Given the description of an element on the screen output the (x, y) to click on. 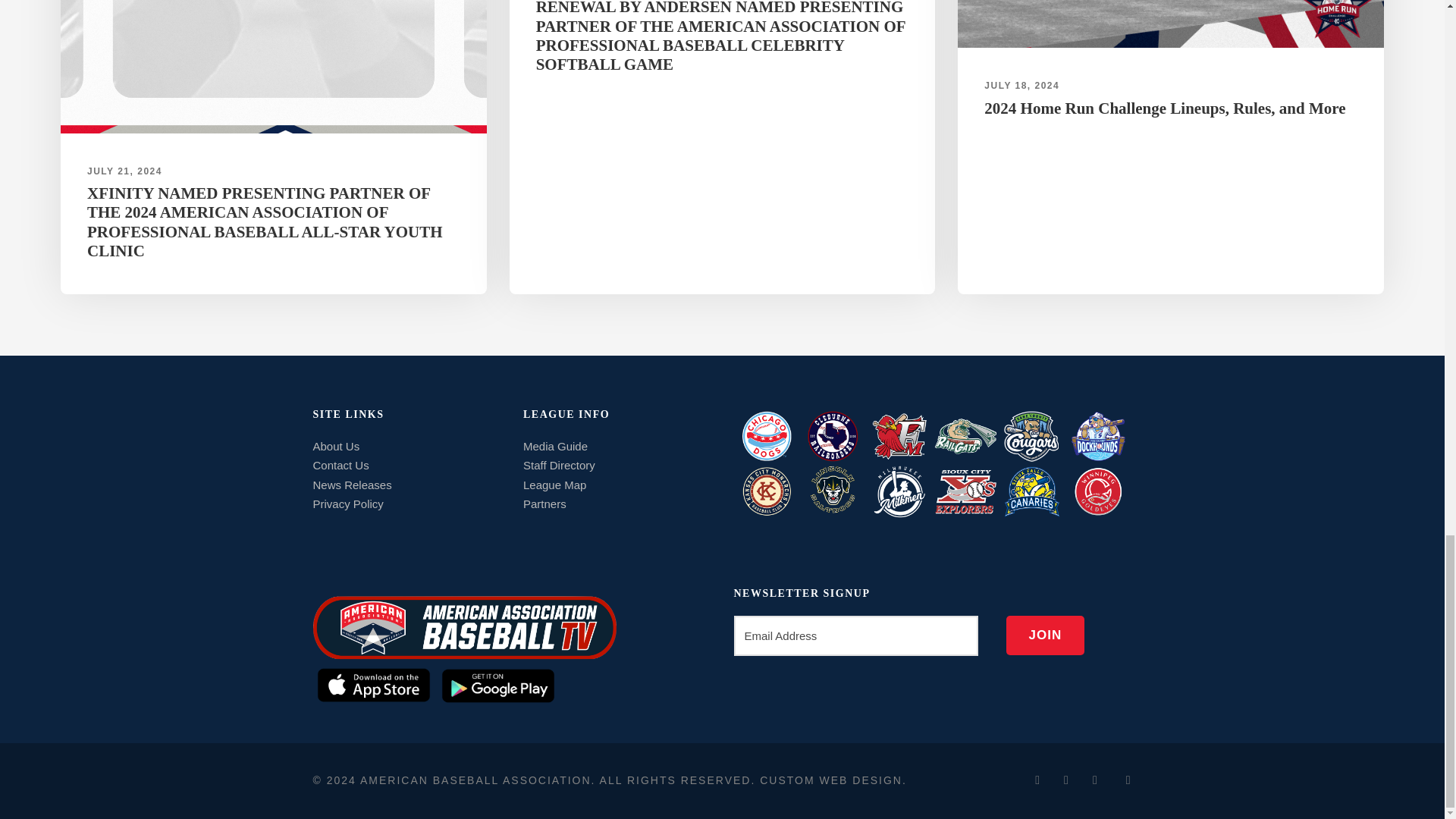
Join (1045, 635)
Hr Challenge (1171, 23)
Xfinity Graphic (273, 66)
